Given the description of an element on the screen output the (x, y) to click on. 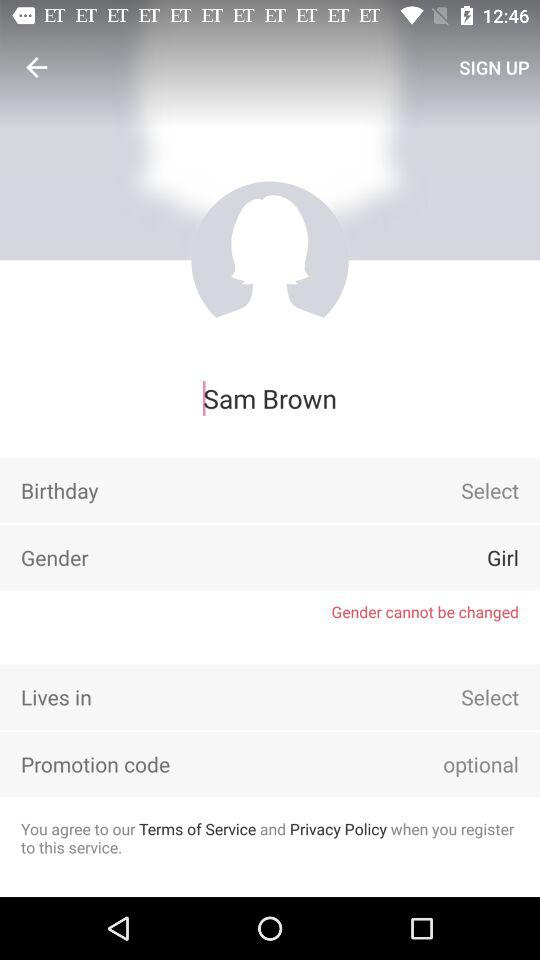
launch item to the left of the sign up item (36, 67)
